Given the description of an element on the screen output the (x, y) to click on. 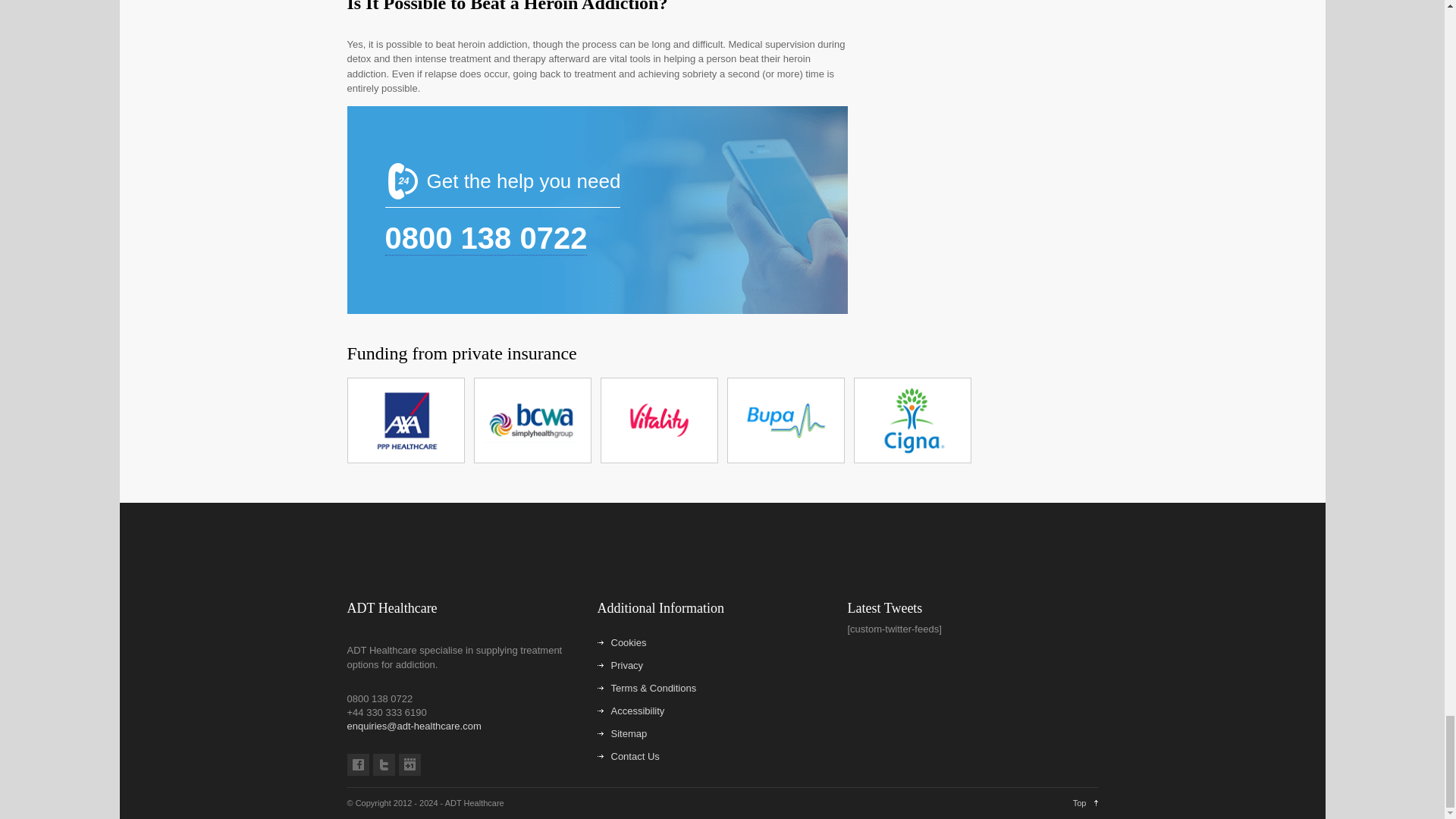
Send Email (414, 725)
Top (1085, 802)
